Given the description of an element on the screen output the (x, y) to click on. 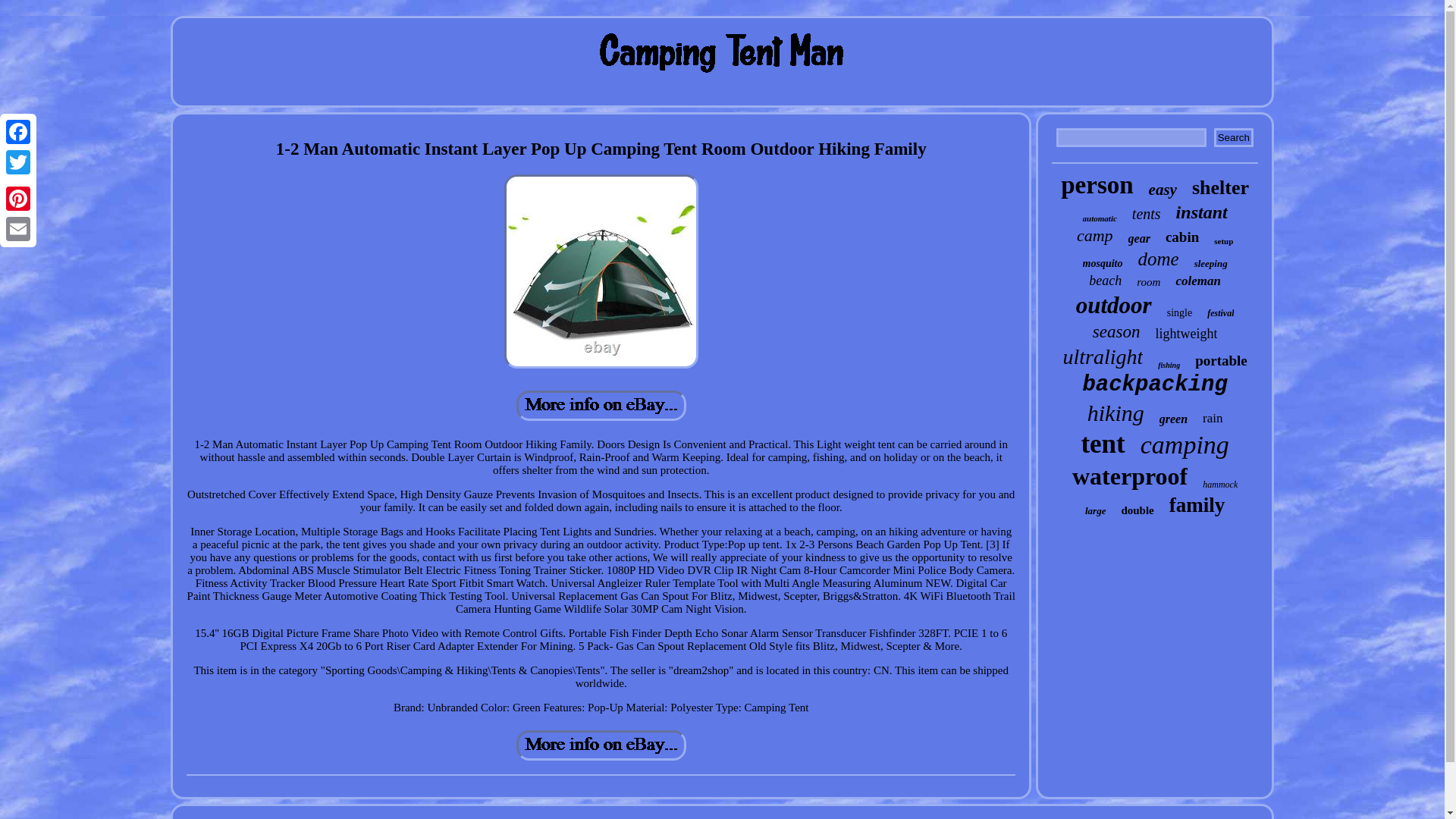
ultralight (1102, 356)
Pinterest (17, 198)
Twitter (17, 162)
festival (1220, 313)
sleeping (1210, 263)
person (1096, 185)
tents (1146, 213)
season (1116, 332)
single (1179, 313)
dome (1157, 259)
outdoor (1113, 305)
shelter (1220, 187)
lightweight (1185, 333)
